Given the description of an element on the screen output the (x, y) to click on. 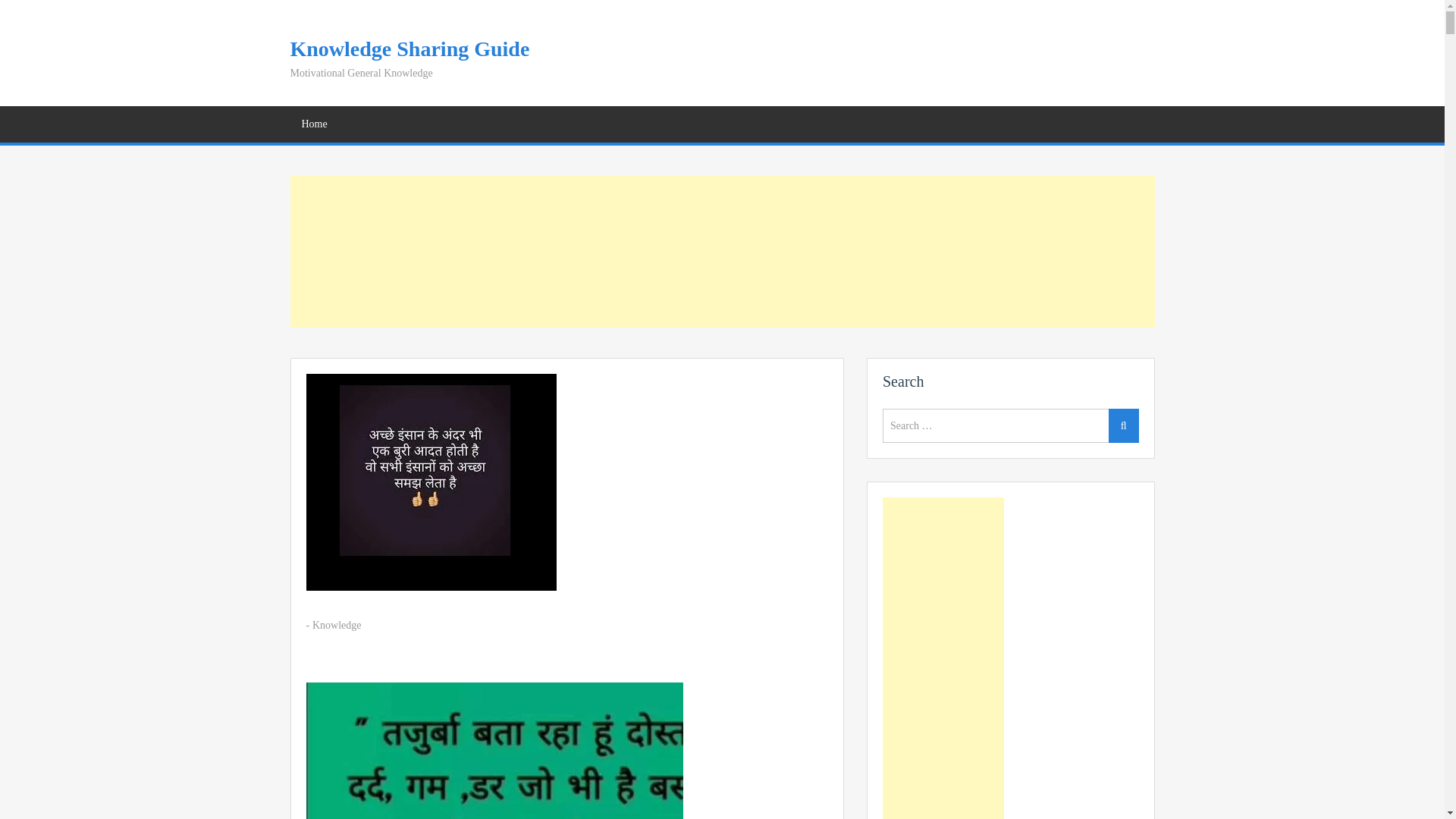
Advertisement (721, 251)
Knowledge Sharing Guide (409, 48)
Home (313, 124)
Knowledge (337, 624)
